Given the description of an element on the screen output the (x, y) to click on. 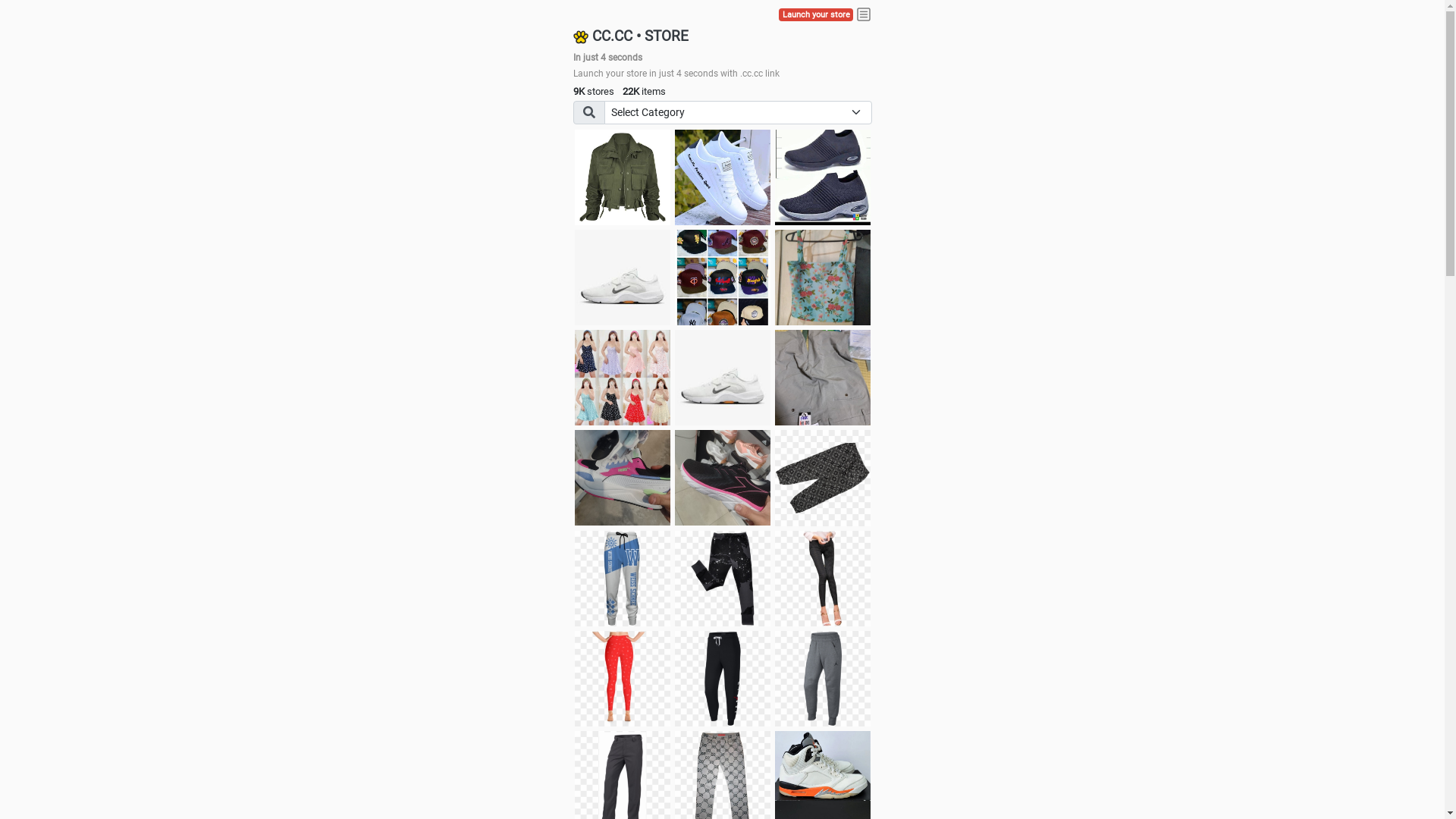
Things we need Element type: hover (722, 277)
Shoes Element type: hover (722, 377)
Zapatillas pumas Element type: hover (622, 477)
jacket Element type: hover (622, 177)
Pant Element type: hover (822, 678)
Pant Element type: hover (722, 578)
Pant Element type: hover (622, 678)
Launch your store Element type: text (815, 14)
shoes for boys Element type: hover (822, 177)
Zapatillas Element type: hover (722, 477)
Short pant Element type: hover (822, 477)
Pant Element type: hover (722, 678)
Shoes for boys Element type: hover (622, 277)
Dress/square nect top Element type: hover (622, 377)
Pant Element type: hover (622, 578)
white shoes Element type: hover (722, 177)
Pant Element type: hover (822, 578)
Ukay cloth Element type: hover (822, 277)
